Given the description of an element on the screen output the (x, y) to click on. 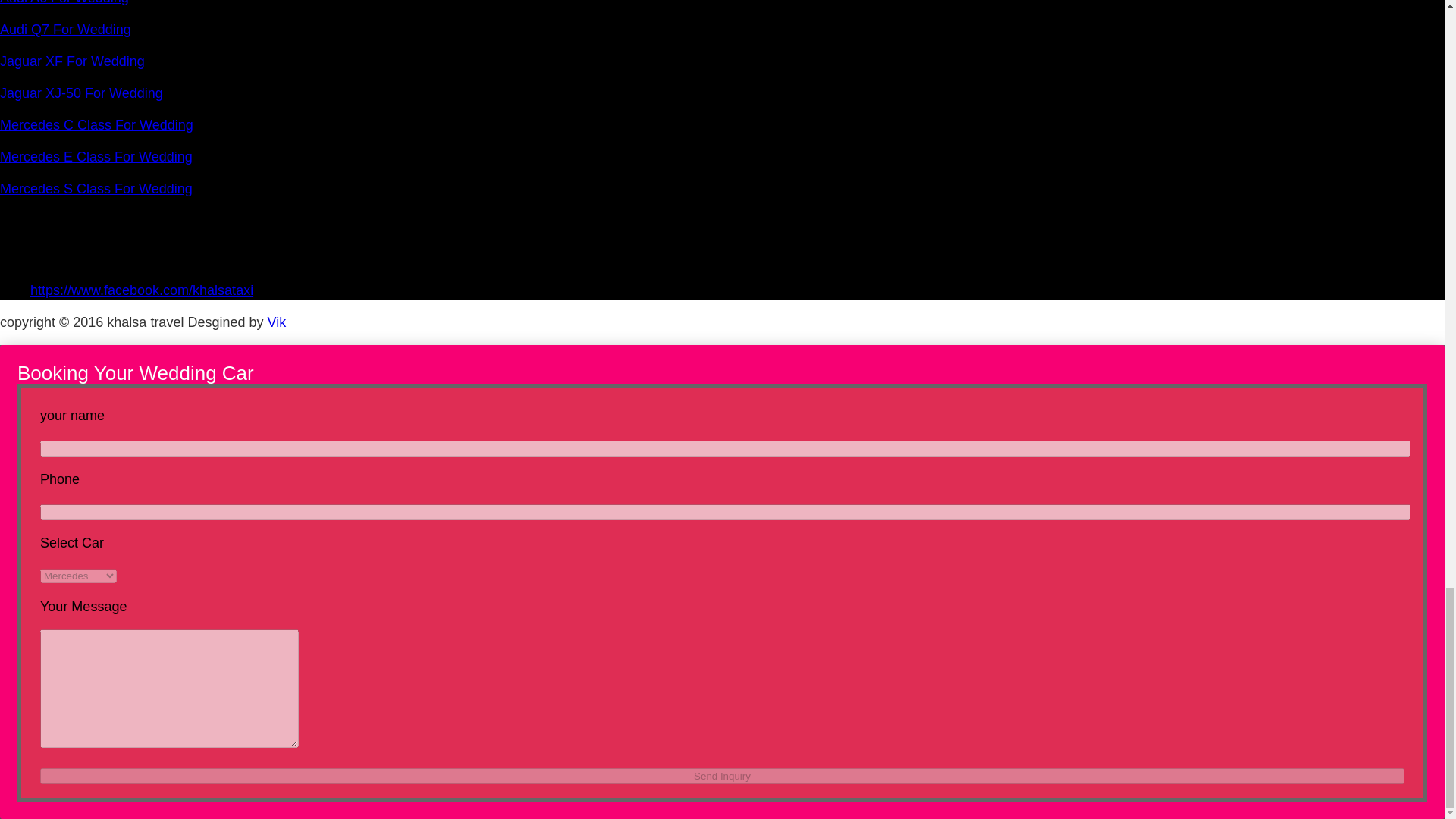
Send Inquiry (722, 775)
